Given the description of an element on the screen output the (x, y) to click on. 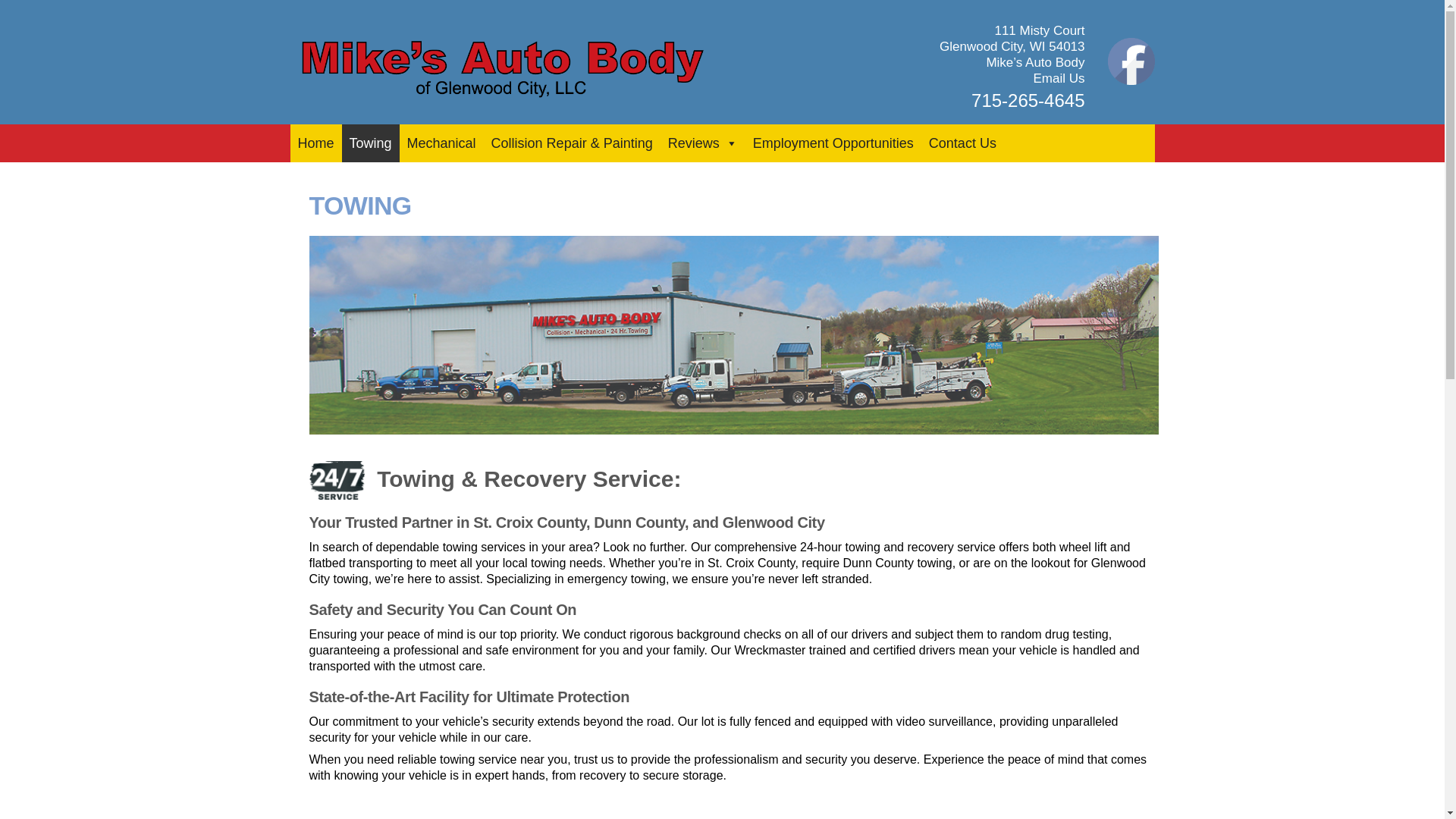
Towing (370, 143)
Home (314, 143)
Contact Us (962, 143)
Reviews (703, 143)
Email Us (1058, 78)
Employment Opportunities (833, 143)
Mechanical (440, 143)
